Given the description of an element on the screen output the (x, y) to click on. 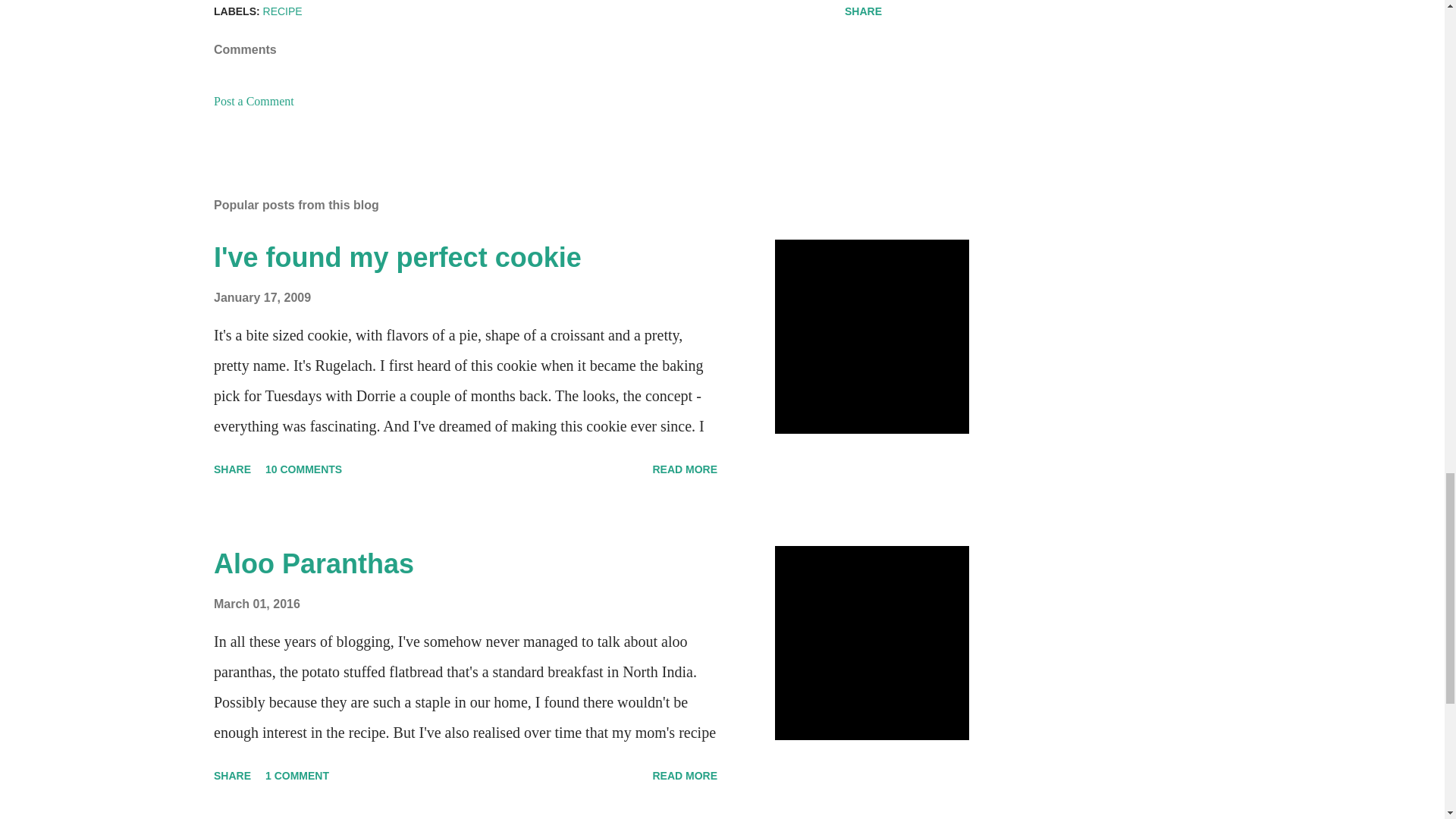
READ MORE (684, 469)
SHARE (232, 775)
permanent link (262, 297)
1 COMMENT (296, 775)
READ MORE (684, 775)
January 17, 2009 (262, 297)
SHARE (863, 11)
RECIPE (282, 11)
March 01, 2016 (256, 603)
10 COMMENTS (303, 469)
